Given the description of an element on the screen output the (x, y) to click on. 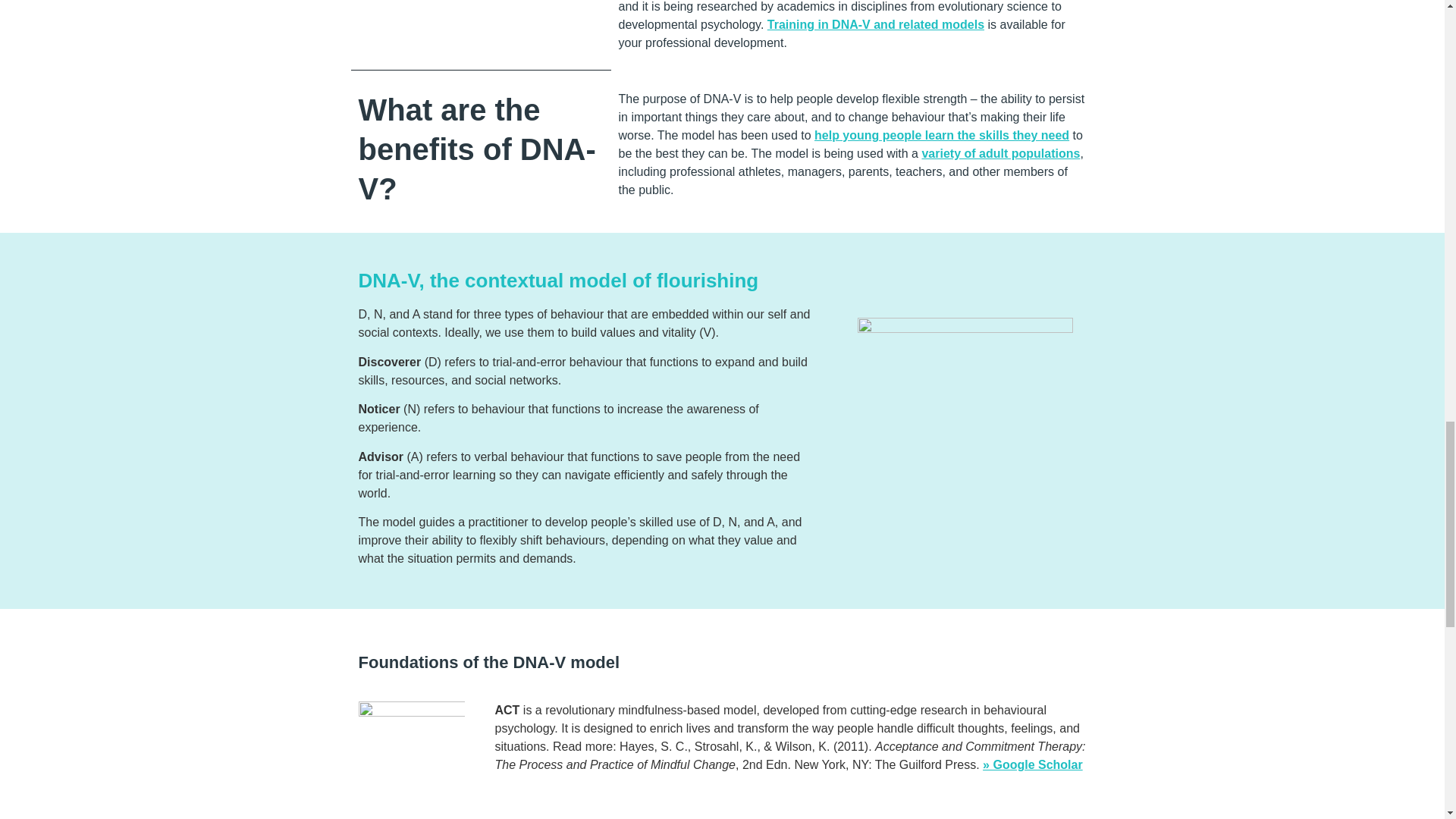
help young people learn the skills they need (940, 134)
Training in DNA-V and related models (875, 24)
variety of adult populations (1000, 153)
